Given the description of an element on the screen output the (x, y) to click on. 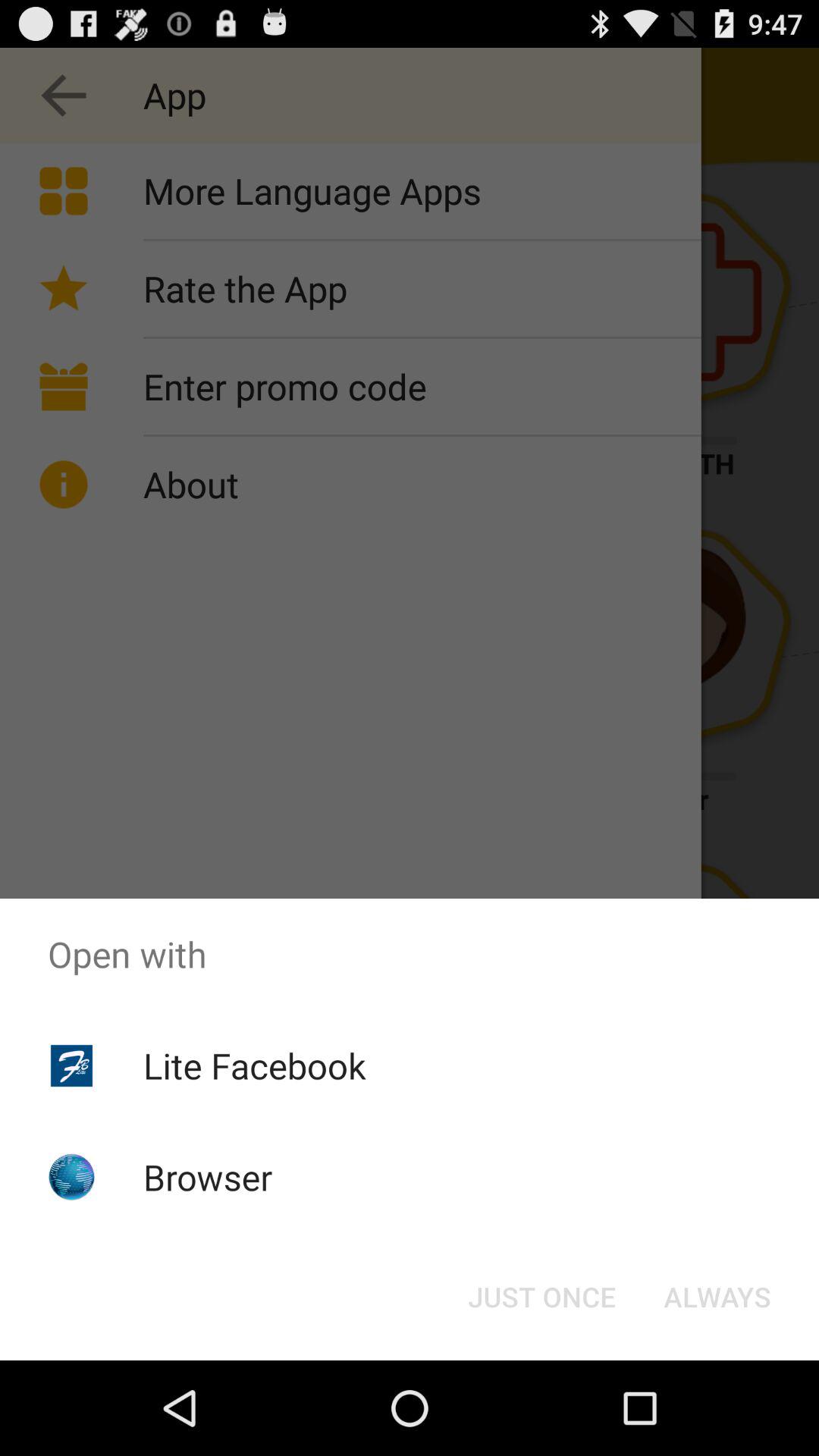
open the button at the bottom right corner (717, 1296)
